Given the description of an element on the screen output the (x, y) to click on. 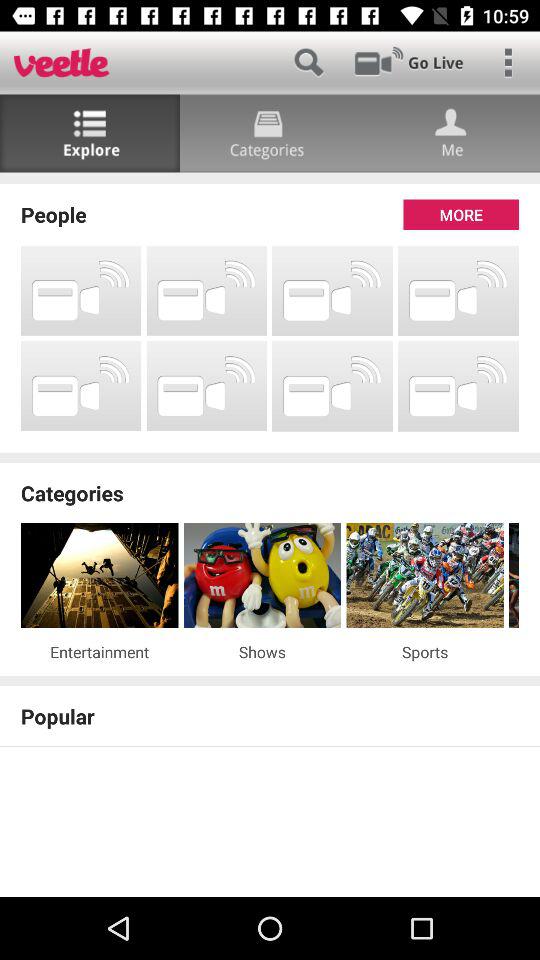
main menu (508, 62)
